Given the description of an element on the screen output the (x, y) to click on. 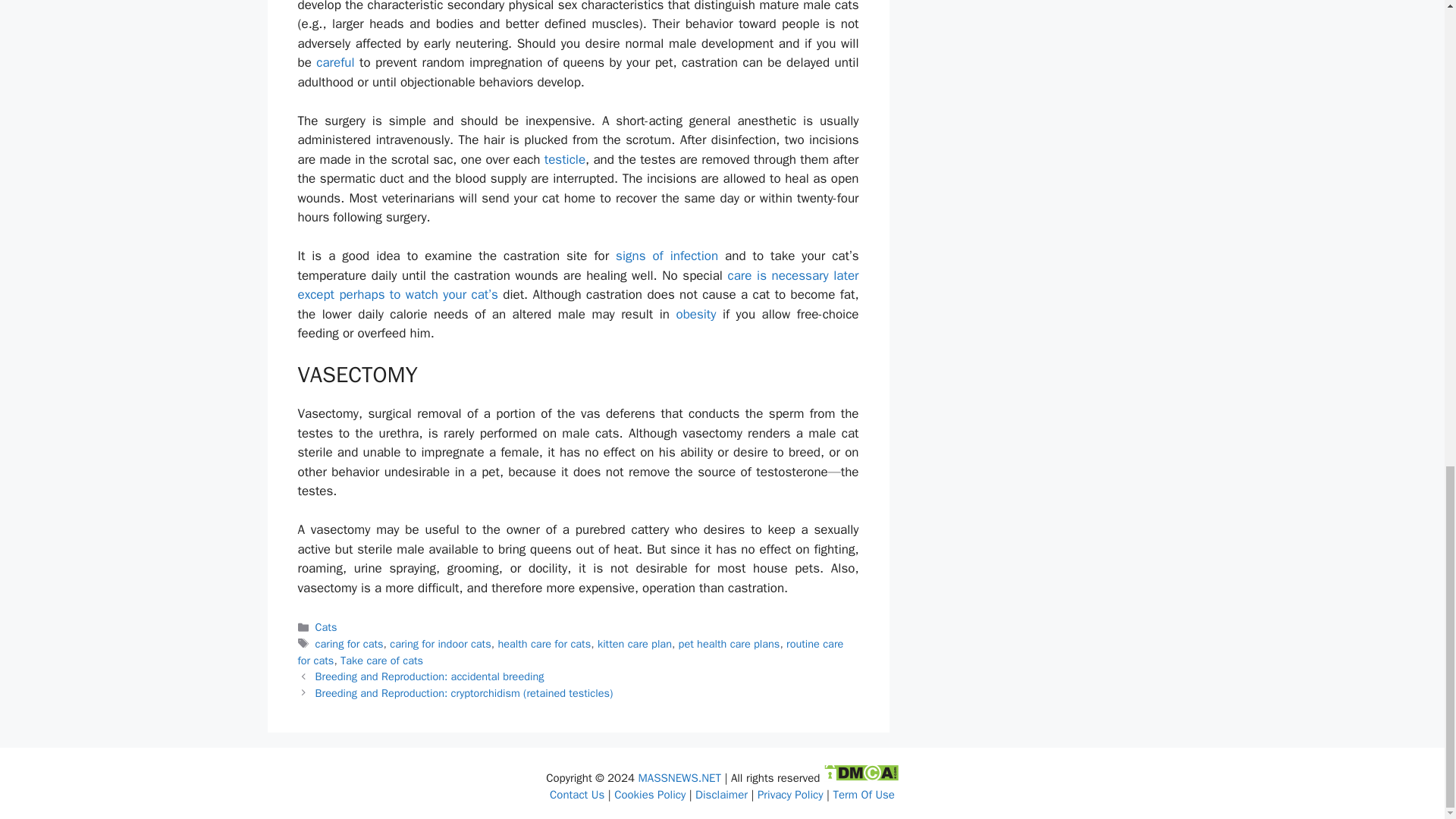
Cookies Policy (649, 794)
caring for cats (349, 643)
careful (334, 62)
Take care of cats (381, 659)
signs of infection (666, 255)
Breeding and Reproduction: accidental breeding (429, 676)
kitten care plan (633, 643)
caring for indoor cats (441, 643)
testicle (564, 159)
health care for cats (544, 643)
